Given the description of an element on the screen output the (x, y) to click on. 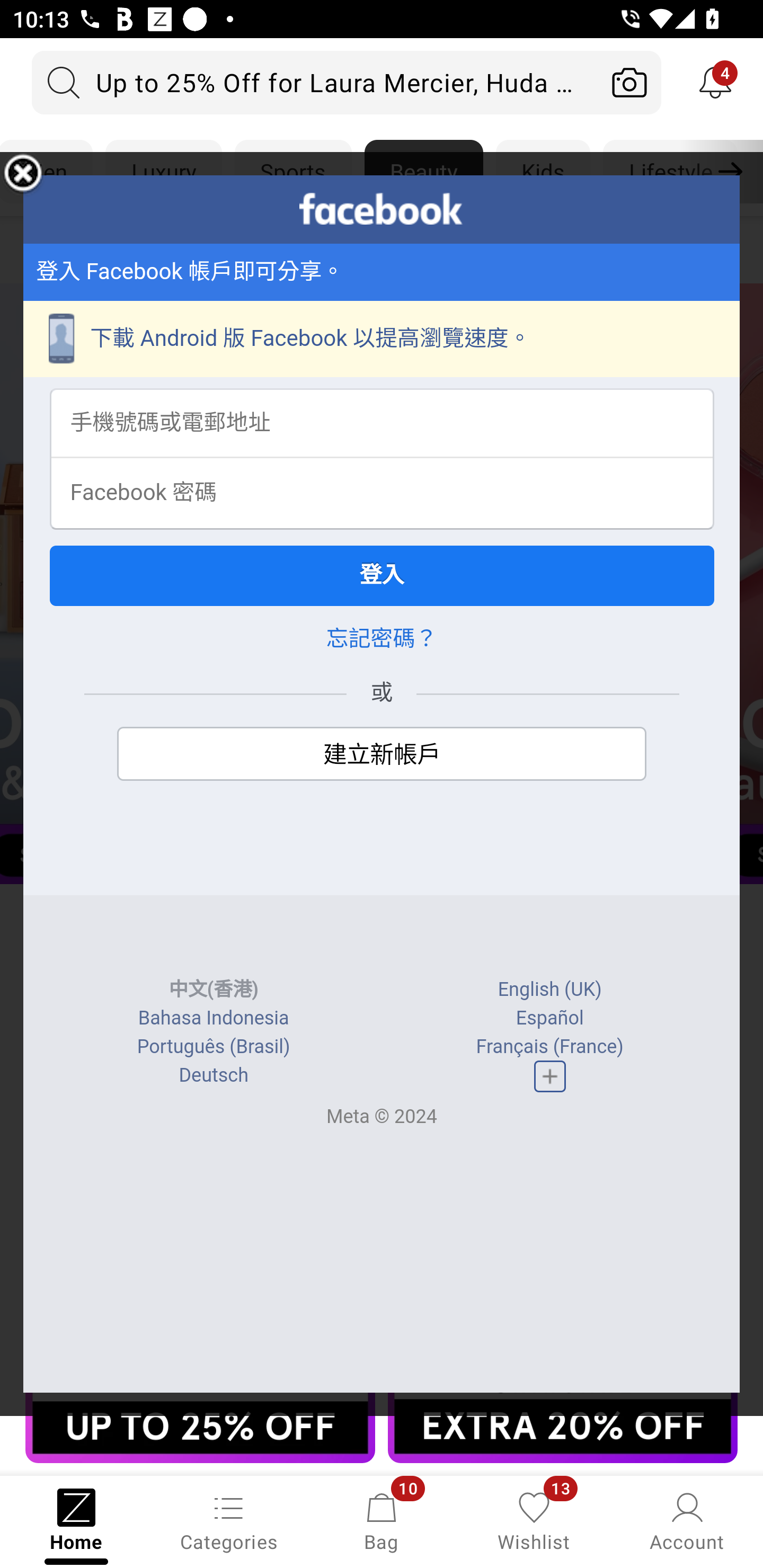
facebook (381, 208)
下載 Android 版 Facebook 以提高瀏覽速度。 (381, 339)
登入 (381, 575)
忘記密碼？ (381, 638)
建立新帳戶 (381, 753)
English (UK) (549, 989)
Bahasa Indonesia (214, 1018)
Español (549, 1018)
Português (Brasil) (212, 1046)
Français (France) (549, 1046)
完整的語言清單 (548, 1075)
Deutsch (212, 1075)
